Given the description of an element on the screen output the (x, y) to click on. 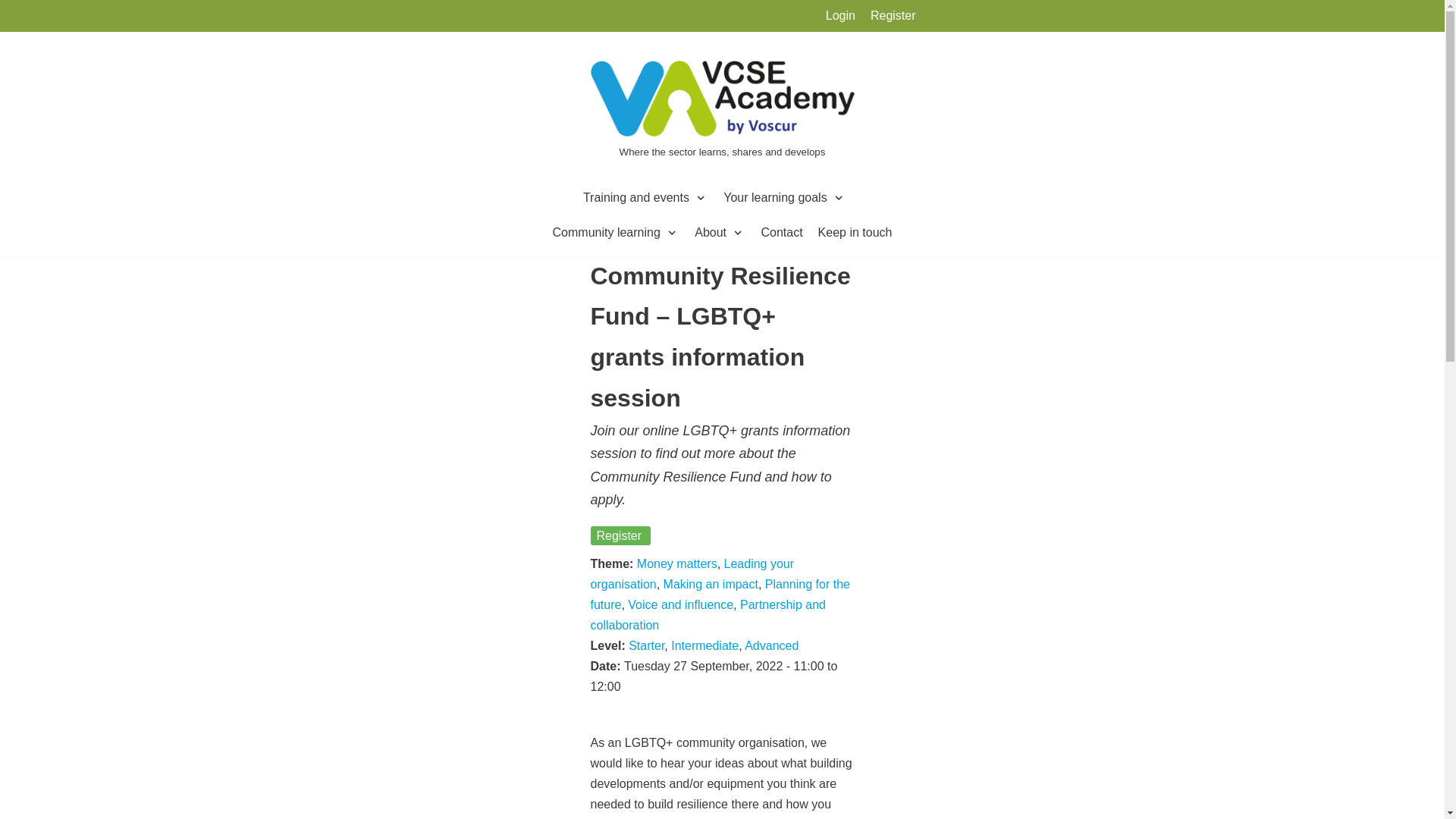
Contact (781, 232)
Keep in touch (855, 232)
Skip to content (15, 31)
Community learning (616, 232)
About (719, 232)
Login (840, 15)
Where the sector learns, shares and develops (722, 110)
Training and events (645, 198)
Register (892, 15)
VCSE Academy (722, 110)
